Given the description of an element on the screen output the (x, y) to click on. 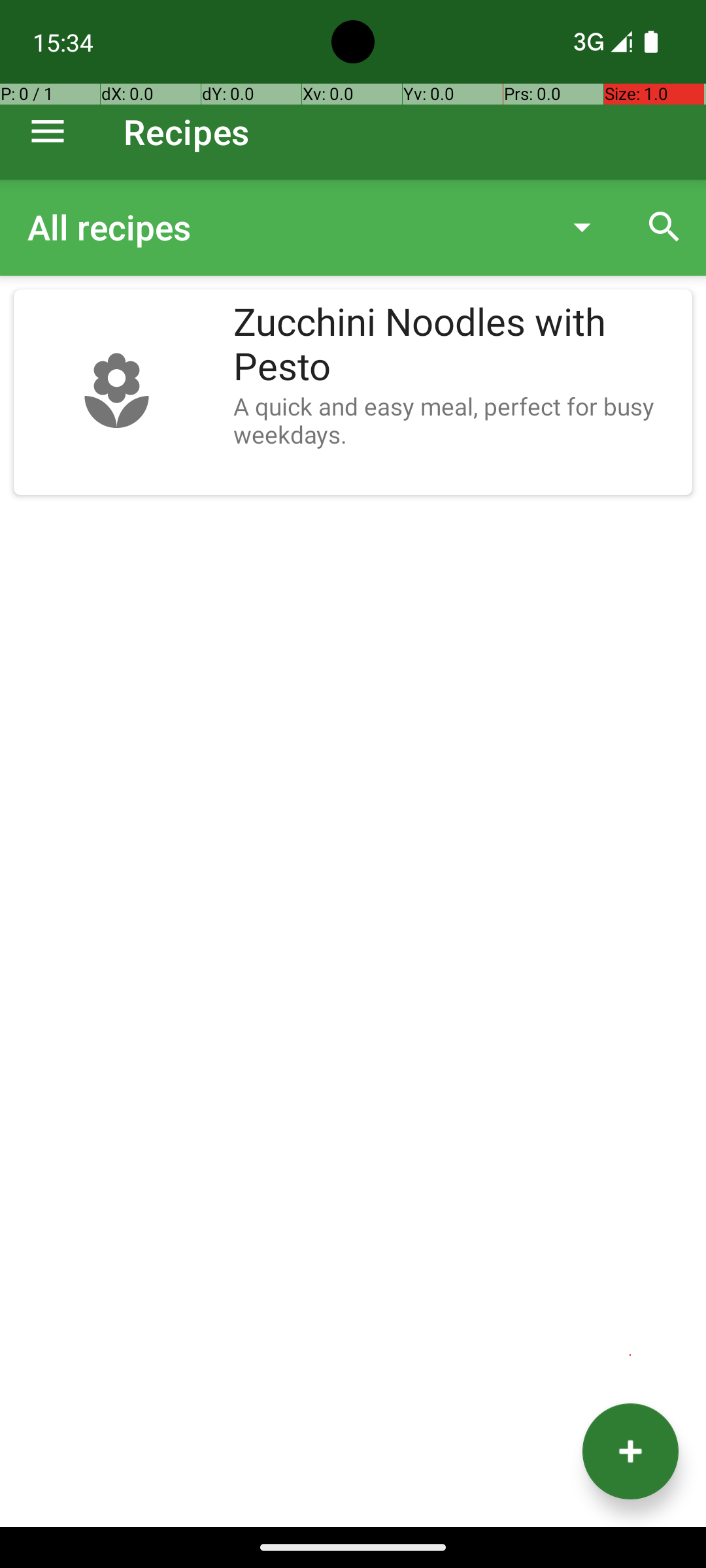
Zucchini Noodles with Pesto Element type: android.widget.TextView (455, 344)
